Given the description of an element on the screen output the (x, y) to click on. 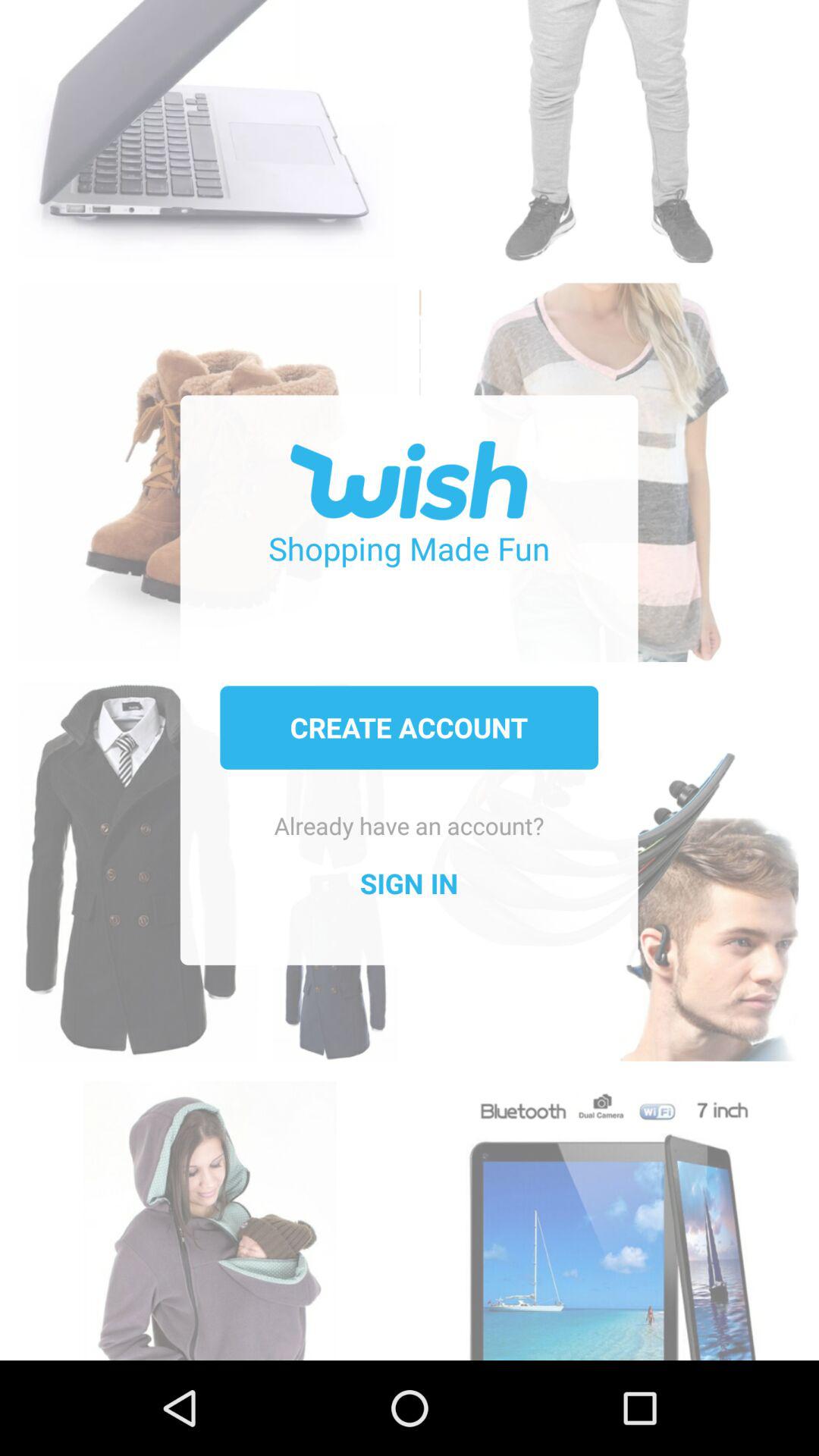
turn off the icon below the shopping made fun (409, 727)
